Given the description of an element on the screen output the (x, y) to click on. 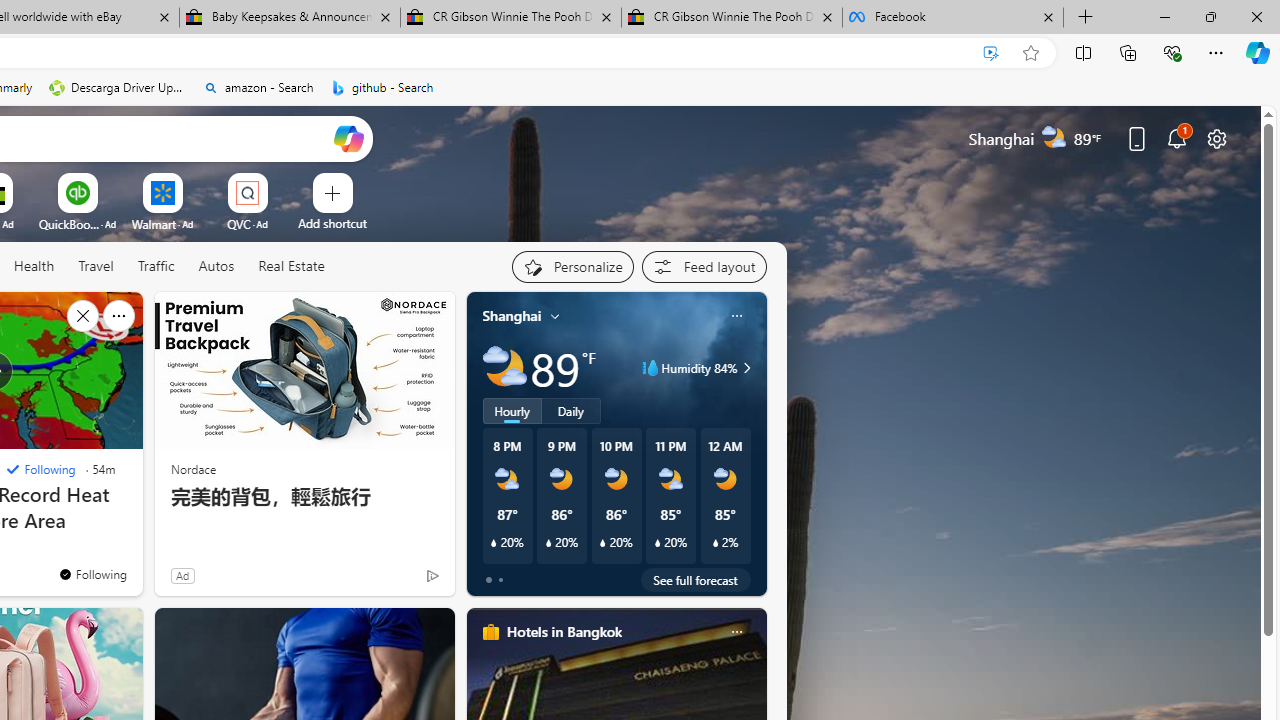
You're following The Weather Channel (92, 573)
Hotels in Bangkok (563, 631)
My location (555, 315)
